Given the description of an element on the screen output the (x, y) to click on. 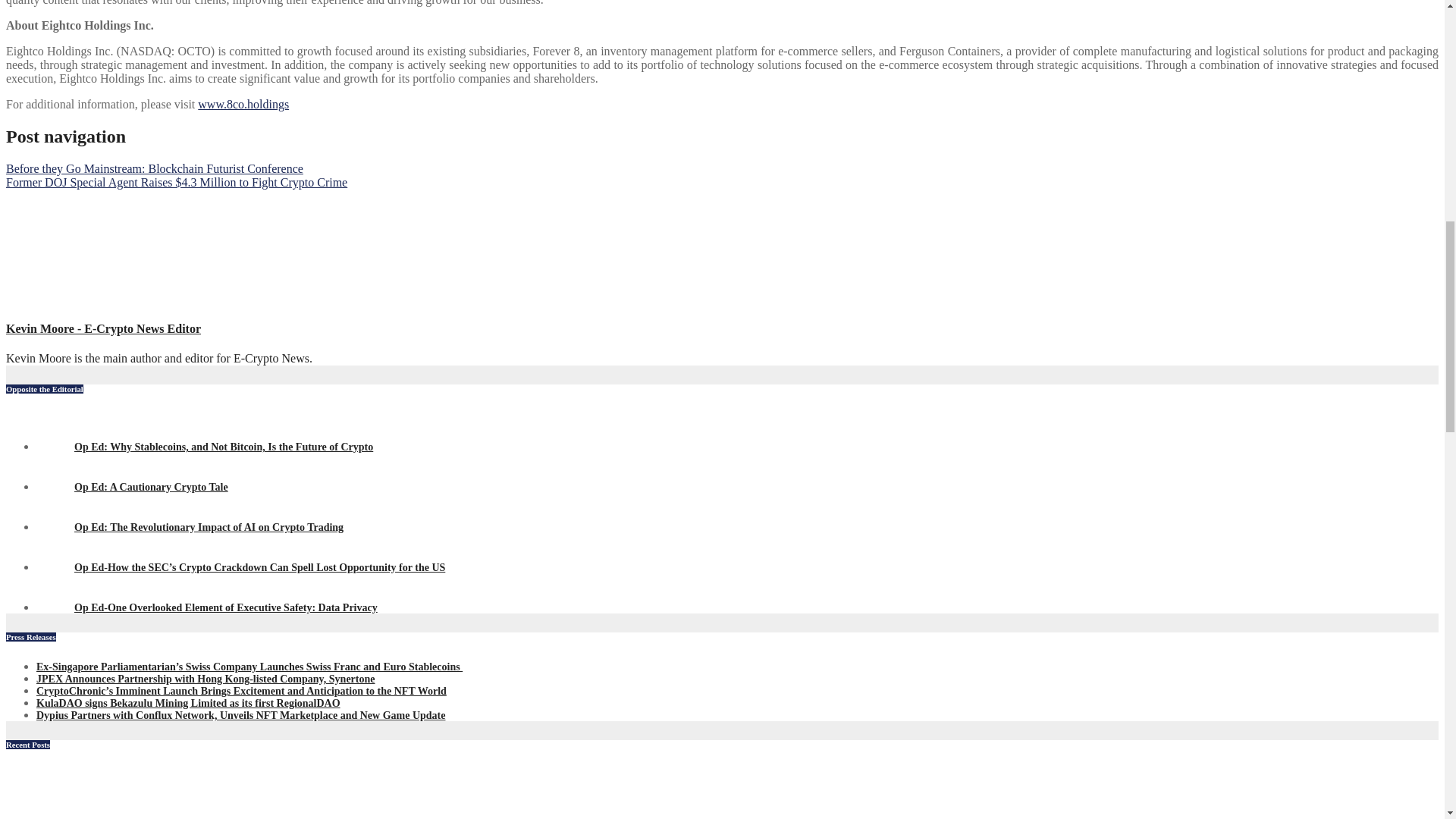
SuccessfulTraderWorkingInModernOfficeLookingAtDisplaySale (66, 793)
www.8co.holdings (243, 103)
Screenshot 2023-06-06 at 10.39.12 AM - E-Crypto News (55, 591)
Kevin Moore - E-Crypto News Editor (102, 328)
Op Ed: A Cautionary Crypto Tale (132, 486)
Zain Jaffer - E-Crypto News (55, 551)
